Given the description of an element on the screen output the (x, y) to click on. 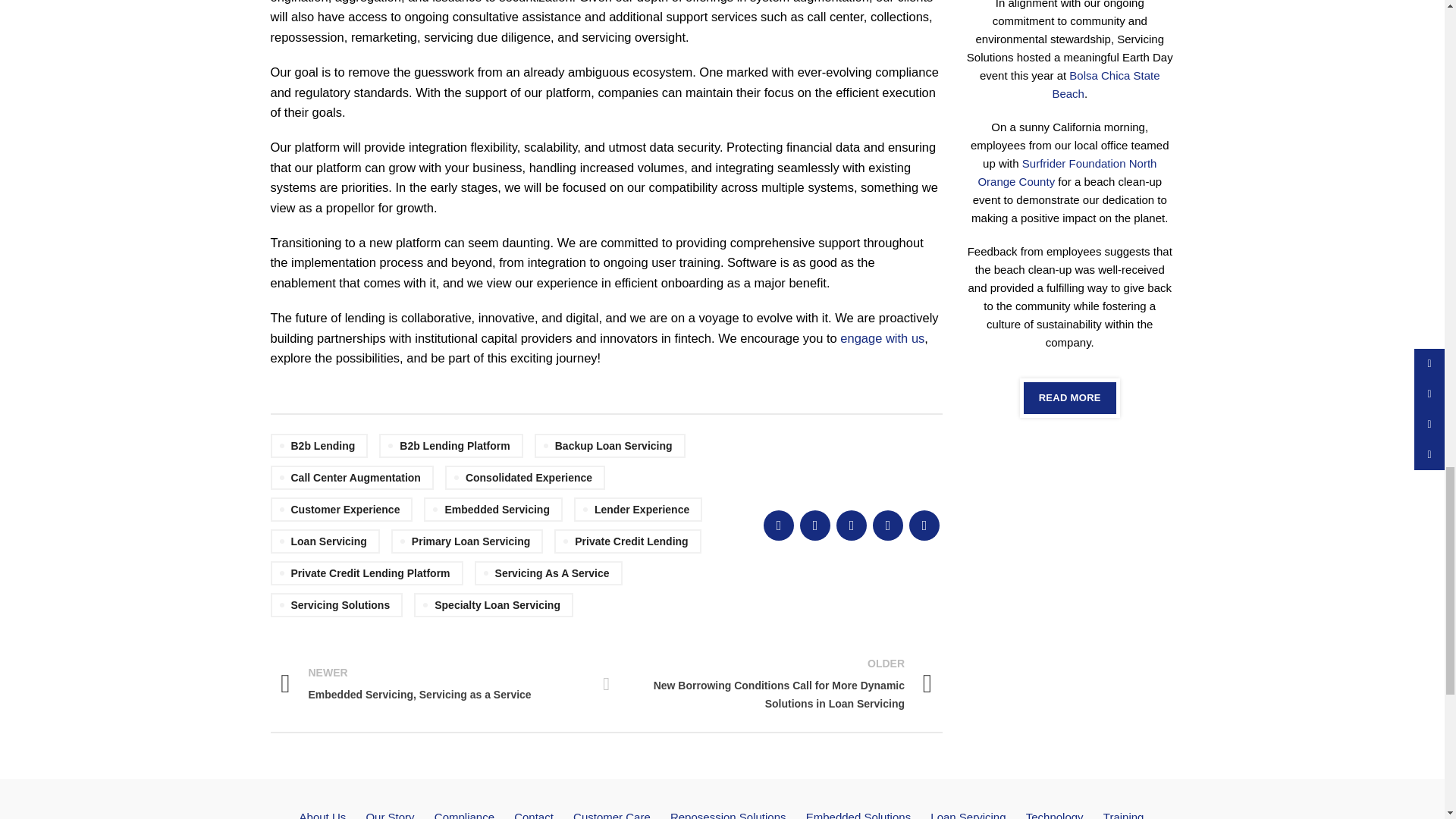
engage with us (882, 337)
